Given the description of an element on the screen output the (x, y) to click on. 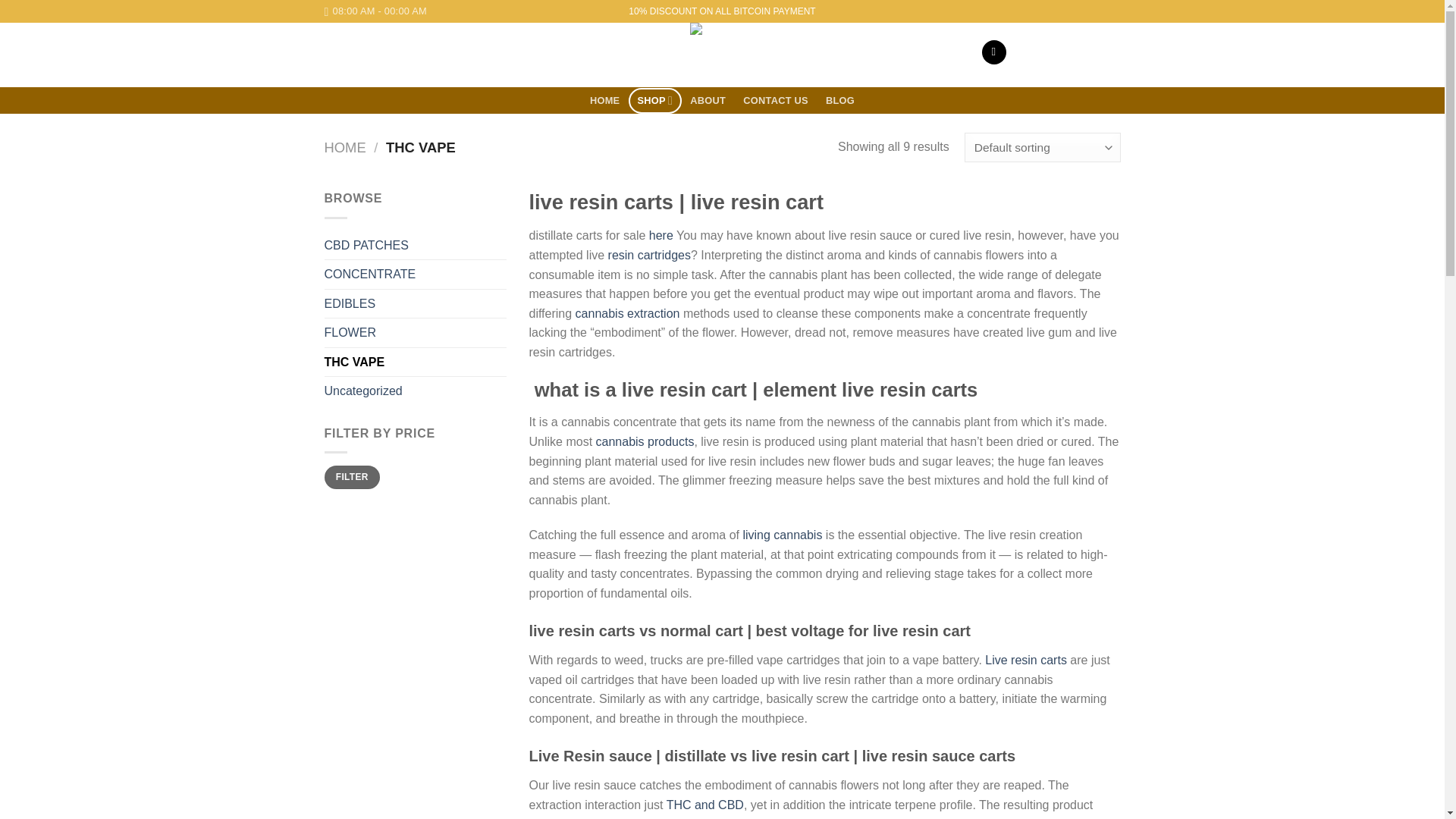
Cart (1074, 51)
Uncategorized (415, 390)
cannabis extraction (627, 313)
FLOWER (415, 332)
EDIBLES (415, 303)
here (660, 235)
BLOG (839, 100)
CBD PATCHES (415, 245)
HOME (345, 147)
cannabis products (644, 440)
HOME (604, 100)
THC and CBD (705, 804)
resin cartridges (649, 254)
CONTACT US (775, 100)
THC VAPE (415, 362)
